Given the description of an element on the screen output the (x, y) to click on. 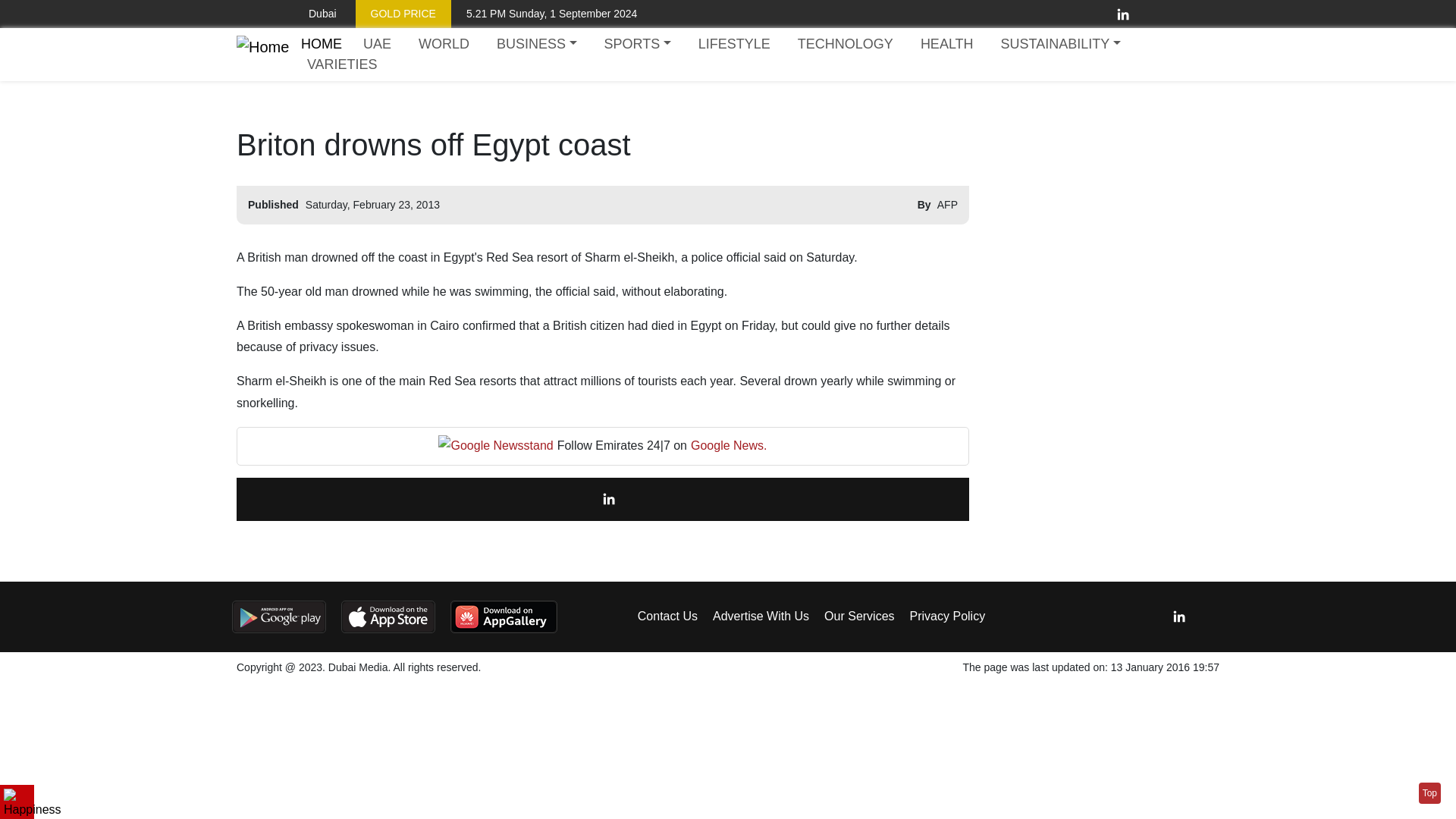
WORLD (444, 44)
SPORTS (637, 44)
Dubai (311, 13)
TECHNOLOGY (845, 44)
GOLD PRICE (403, 13)
LIFESTYLE (734, 44)
SUSTAINABILITY (1060, 44)
VARIETIES (342, 64)
BUSINESS (536, 44)
HEALTH (946, 44)
